Given the description of an element on the screen output the (x, y) to click on. 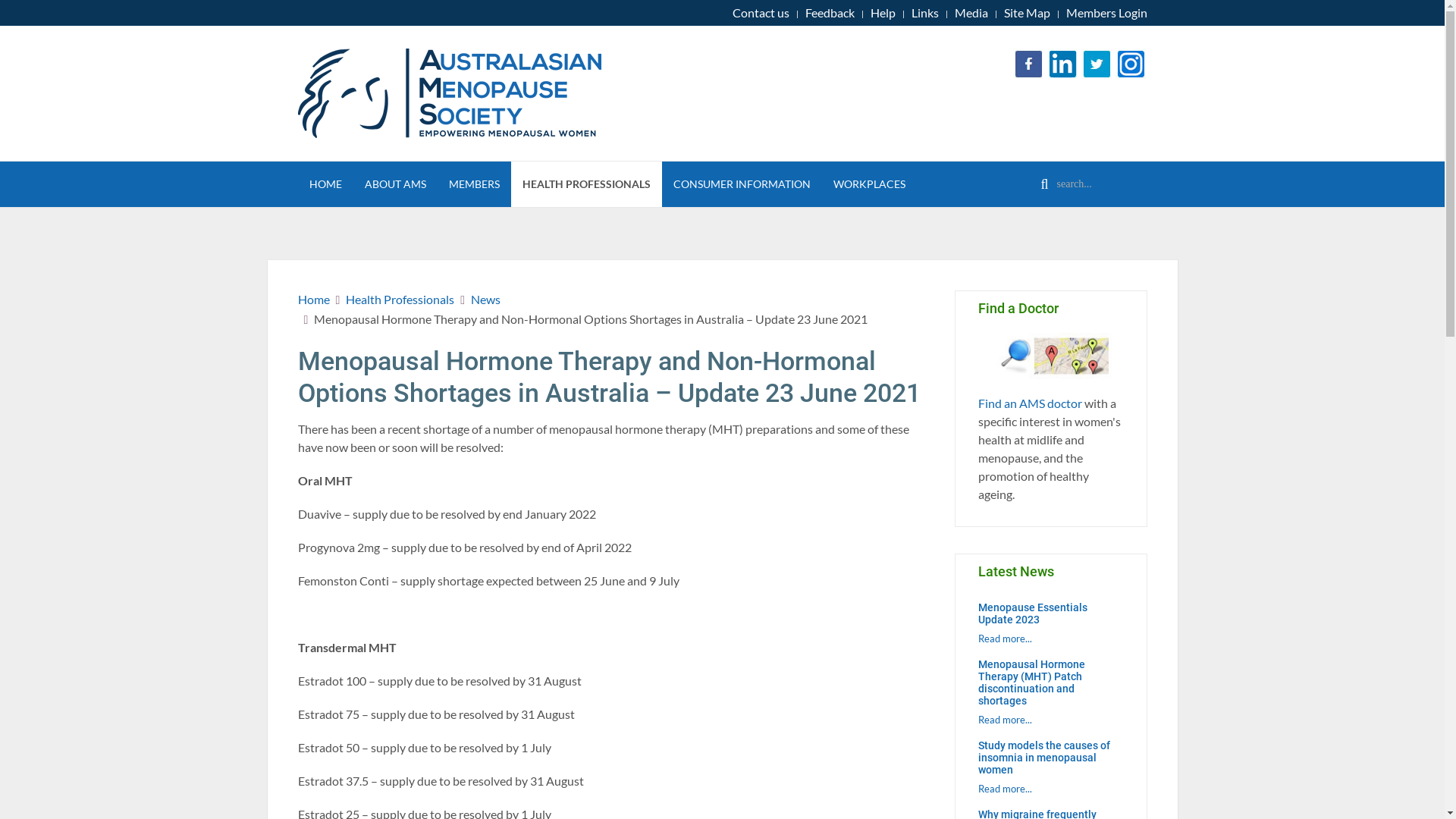
AMS on Instagram Element type: hover (1130, 61)
Read more... Element type: text (1005, 638)
Members Login Element type: text (1106, 12)
Follow us on Facebook Element type: hover (1028, 63)
Find an AMS Doctor Element type: hover (1050, 355)
WORKPLACES Element type: text (869, 184)
Feedback Element type: text (829, 12)
Follow us on Twitter @amsmenopause Element type: hover (1097, 63)
ABOUT AMS Element type: text (395, 184)
Home Element type: text (313, 299)
Read more... Element type: text (1005, 719)
Contact us Element type: text (760, 12)
Australasian Menopause Society Element type: hover (482, 93)
MEMBERS Element type: text (473, 184)
Follow us on Facebook Element type: hover (1028, 61)
Site Map Element type: text (1027, 12)
Health Professionals Element type: text (399, 299)
Links Element type: text (924, 12)
Study models the causes of insomnia in menopausal women Element type: text (1044, 757)
Follow us Element type: hover (1097, 61)
HOME Element type: text (324, 184)
Help Element type: text (882, 12)
Find an AMS doctor Element type: hover (1050, 354)
AMS on Instagram Element type: hover (1130, 63)
Read more... Element type: text (1005, 788)
Follow AMS on Linkedin Element type: hover (1062, 63)
News Element type: text (485, 299)
CONSUMER INFORMATION Element type: text (741, 184)
AMS on Linkedin Element type: hover (1062, 61)
Media Element type: text (970, 12)
Menopause Essentials Update 2023 Element type: text (1032, 613)
HEALTH PROFESSIONALS Element type: text (586, 184)
Find an AMS doctor Element type: text (1030, 402)
